Given the description of an element on the screen output the (x, y) to click on. 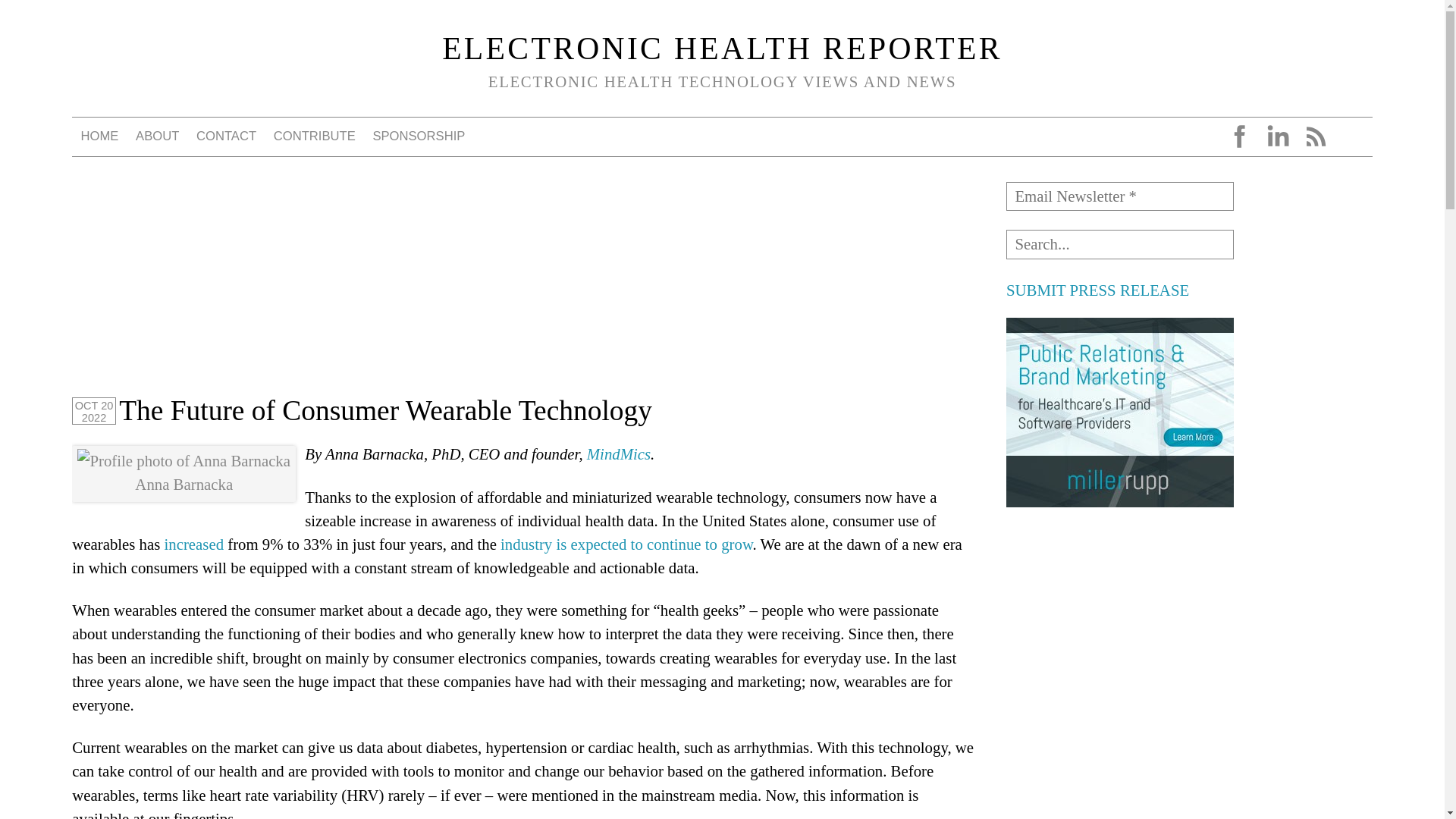
CONTRIBUTE (313, 136)
CONTACT (226, 136)
increased (194, 543)
ELECTRONIC HEALTH REPORTER (722, 48)
industry is expected to continue to grow (626, 543)
SPONSORSHIP (418, 136)
Advertisement (1119, 780)
LINKEDIN (1277, 136)
Email Newsletter (1119, 195)
October 20, 2022 7:10 am (93, 410)
ABOUT (157, 136)
Advertisement (1119, 624)
MindMics (618, 453)
FACEBOOK (1239, 136)
